Given the description of an element on the screen output the (x, y) to click on. 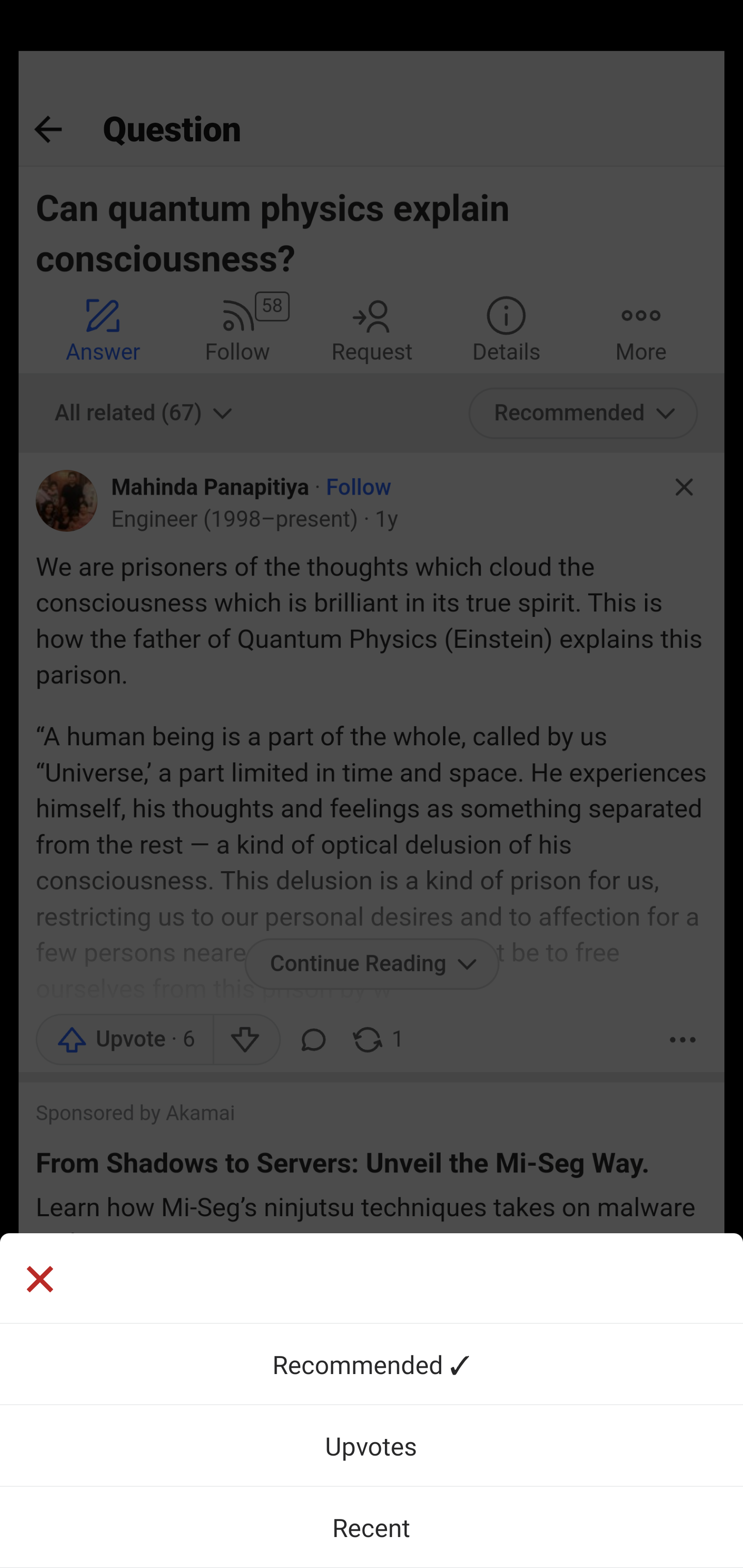
 (371, 1278)
 (39, 1280)
